Given the description of an element on the screen output the (x, y) to click on. 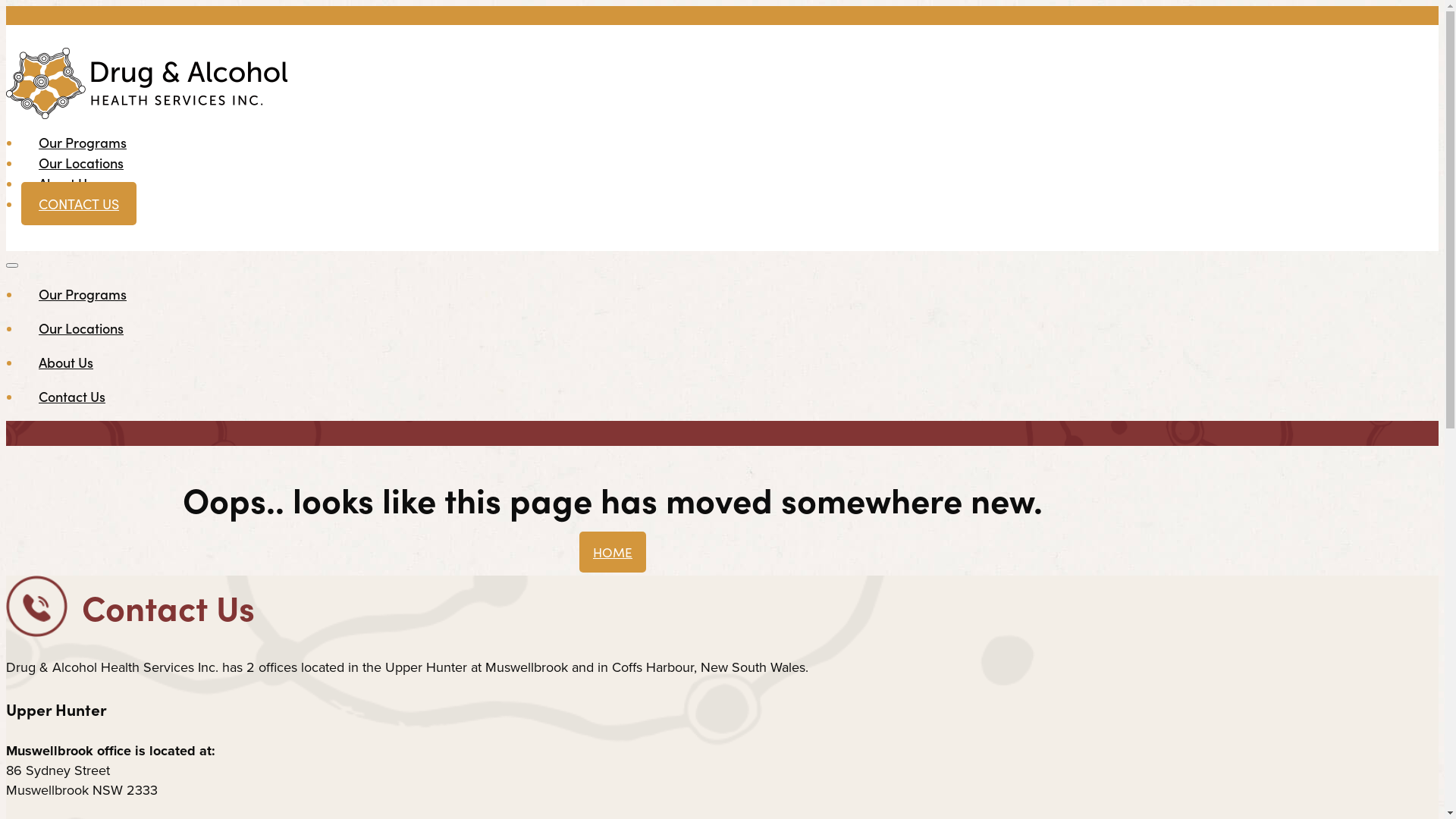
About Us Element type: text (65, 182)
Our Programs Element type: text (82, 293)
CONTACT US Element type: text (78, 203)
Our Locations Element type: text (81, 162)
Our Locations Element type: text (81, 327)
Contact Us Element type: text (71, 395)
HOME Element type: text (612, 550)
Our Programs Element type: text (82, 141)
About Us Element type: text (65, 361)
Drug & Alcohol Health Services Element type: hover (612, 83)
